Given the description of an element on the screen output the (x, y) to click on. 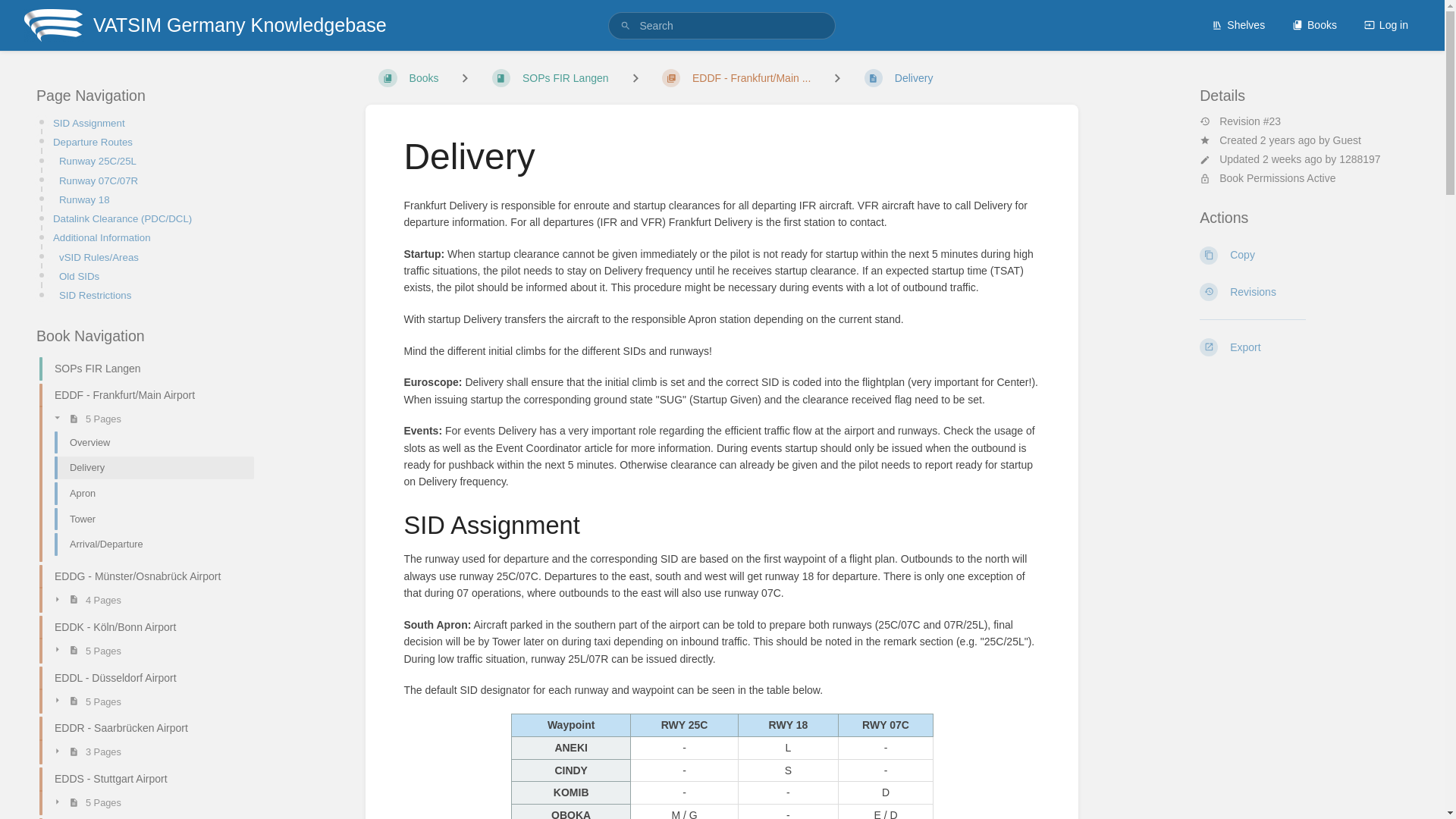
SID Assignment (148, 123)
Additional Information (148, 237)
Tue, Jul 12, 2022 9:21 AM (1288, 140)
Shelves (1237, 24)
Revisions (1304, 291)
VATSIM Germany Knowledgebase (205, 24)
5 Pages (147, 418)
Apron (147, 493)
Tower (147, 519)
Overview (147, 442)
